Given the description of an element on the screen output the (x, y) to click on. 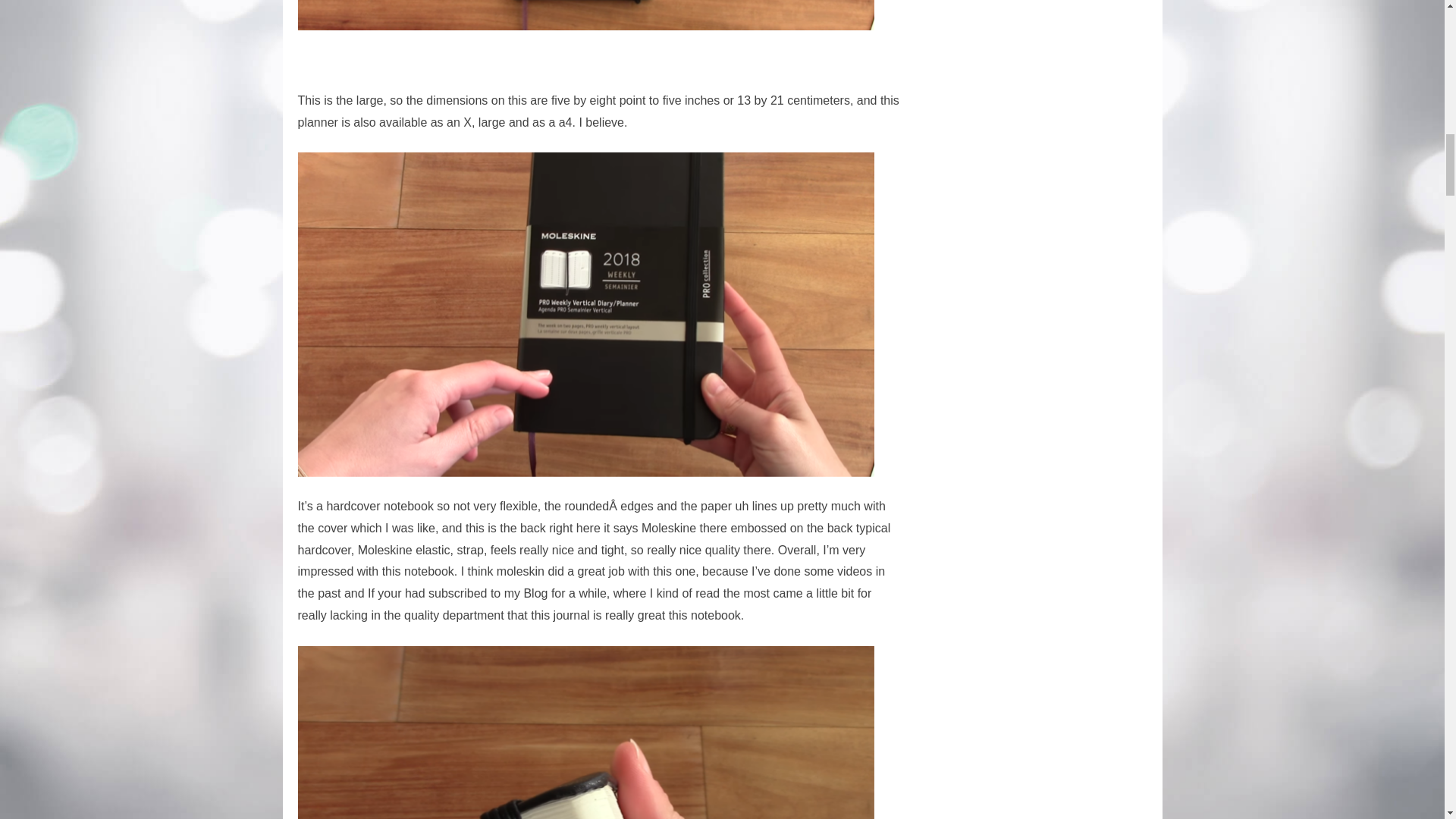
Moleskine Pro Planner Review 22 (585, 732)
Moleskine Pro Planner Review 20 (585, 15)
